Given the description of an element on the screen output the (x, y) to click on. 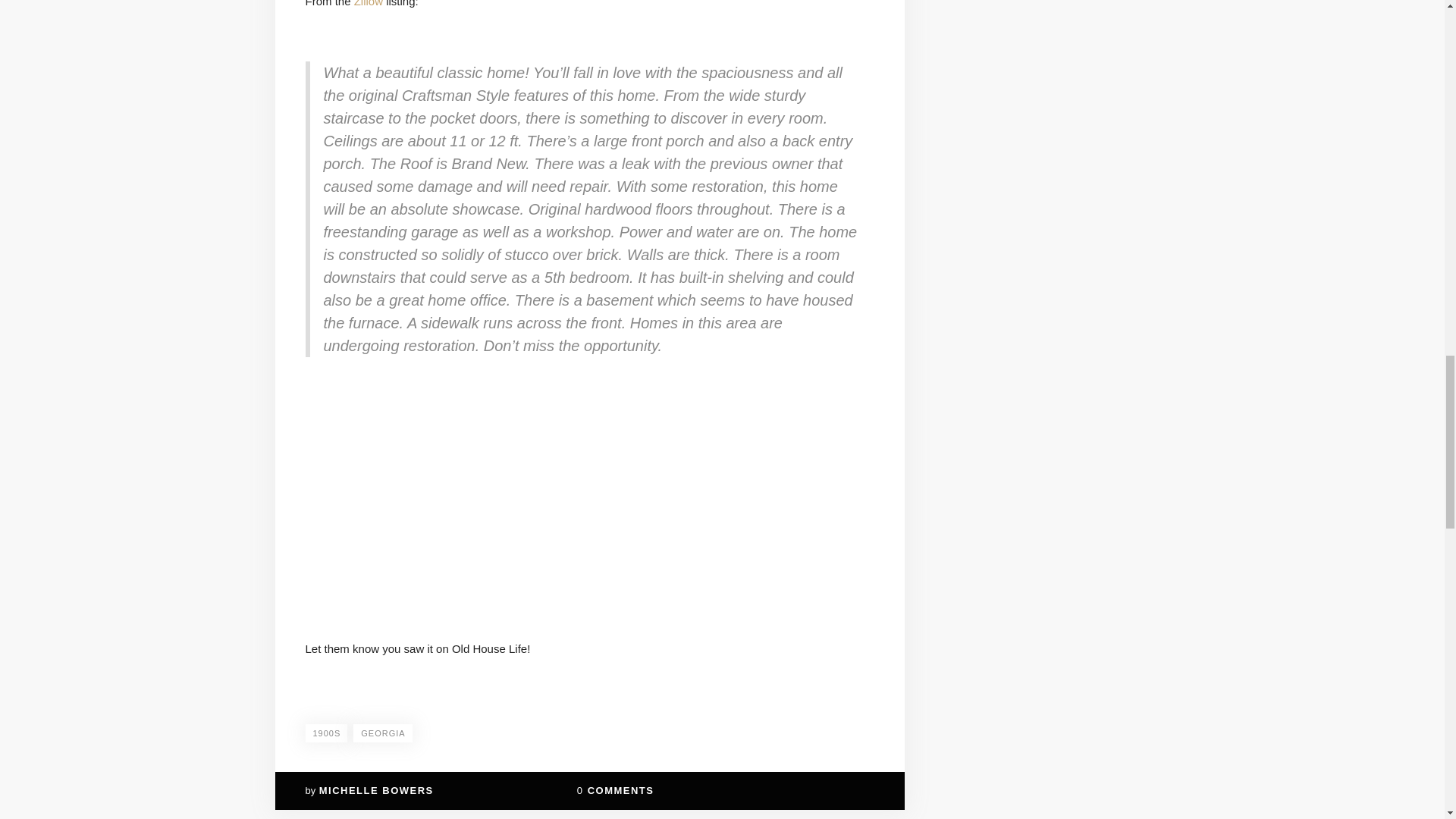
Zillow (367, 3)
